Given the description of an element on the screen output the (x, y) to click on. 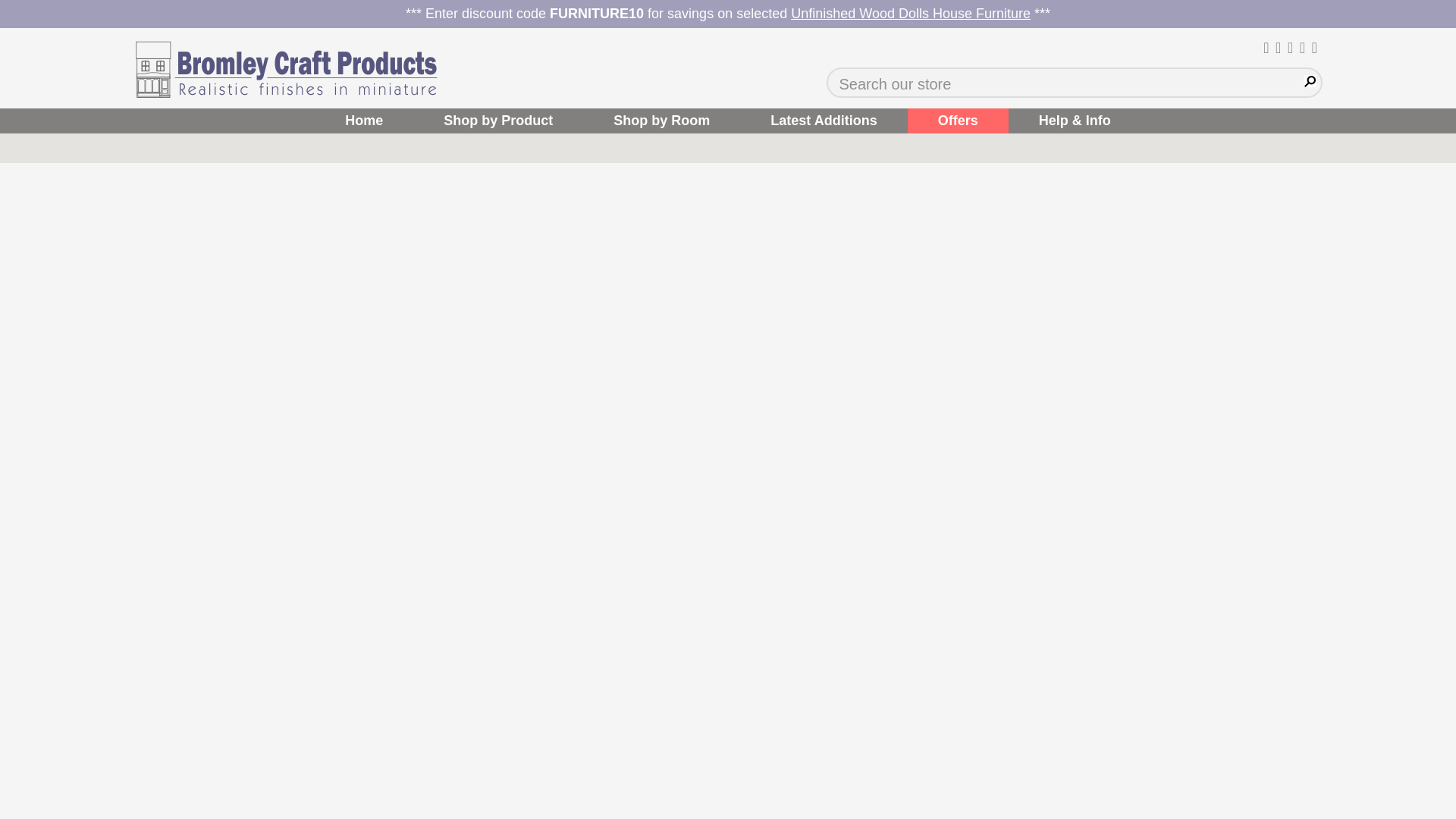
Unfinished Wood Dolls House Furniture (910, 13)
Home (363, 120)
Shop by Product (498, 120)
